Given the description of an element on the screen output the (x, y) to click on. 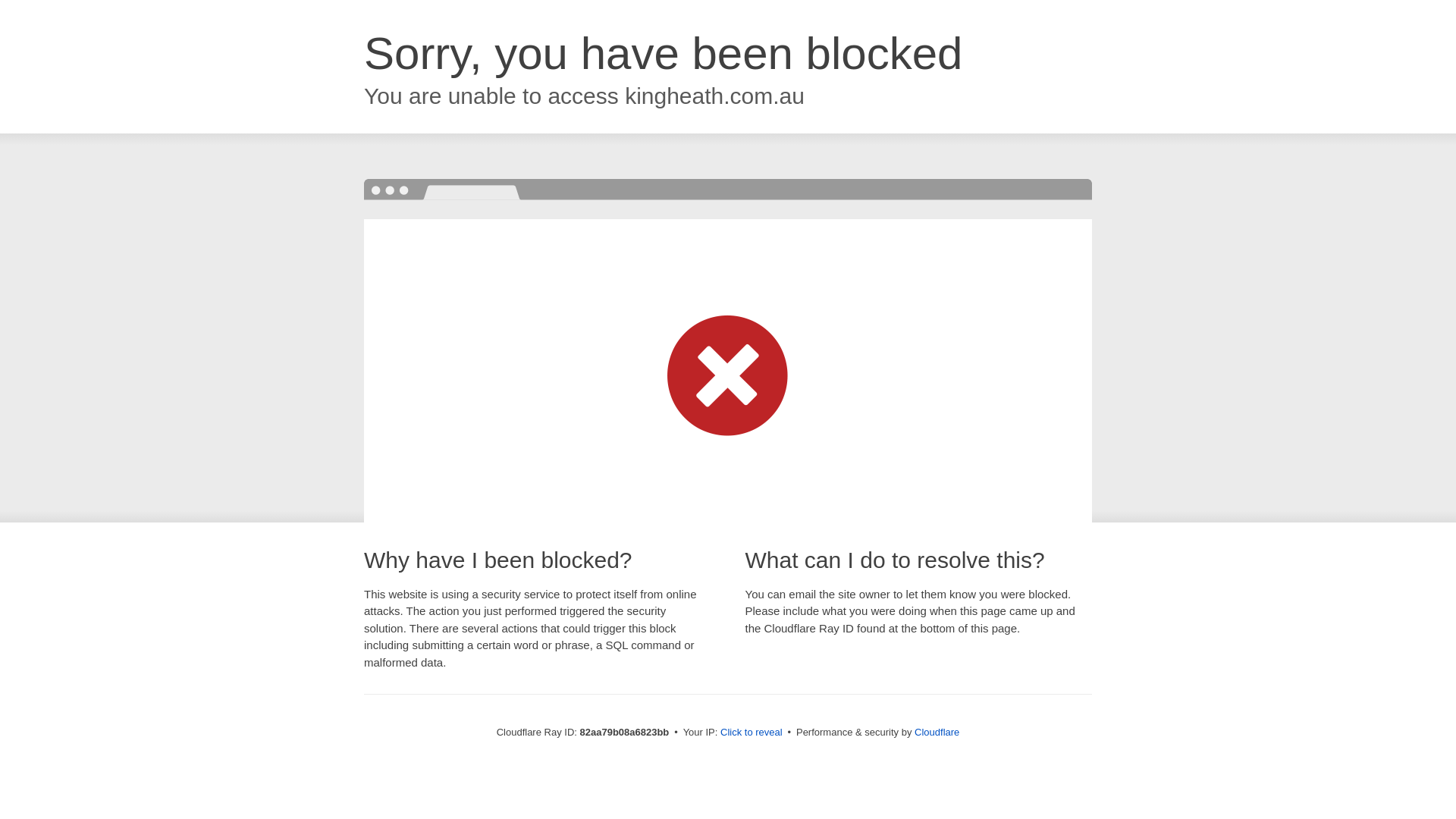
Cloudflare Element type: text (936, 731)
Click to reveal Element type: text (751, 732)
